Given the description of an element on the screen output the (x, y) to click on. 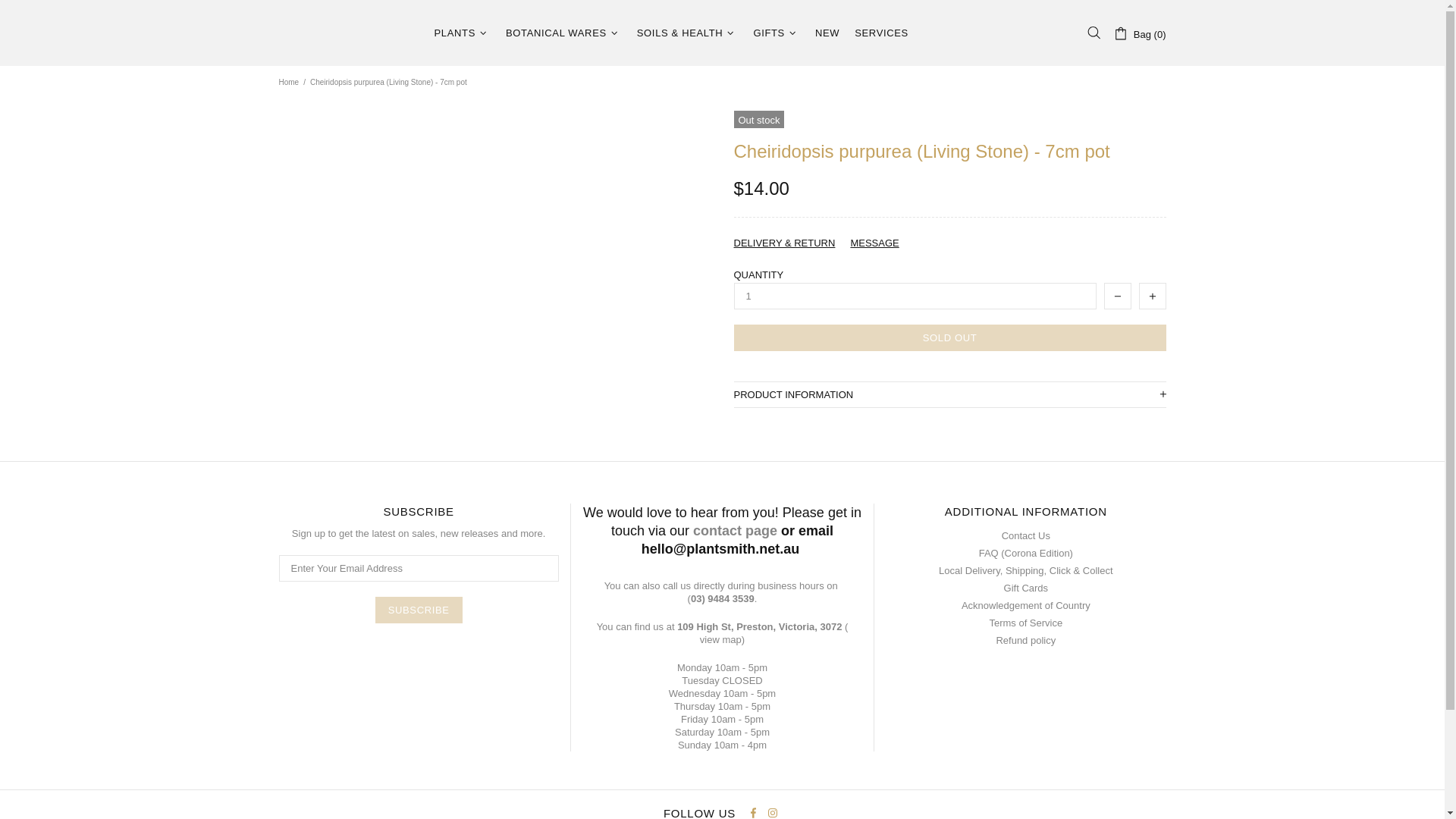
Call via Hangouts (720, 598)
Subscribe (419, 610)
Contact Plantsmith (735, 530)
Plantsmith (346, 32)
GIFTS (776, 33)
Plantsmith Directions (720, 639)
Plantsmith Location Map (759, 626)
BOTANICAL WARES (562, 33)
PLANTS (461, 33)
SERVICES (881, 33)
